Given the description of an element on the screen output the (x, y) to click on. 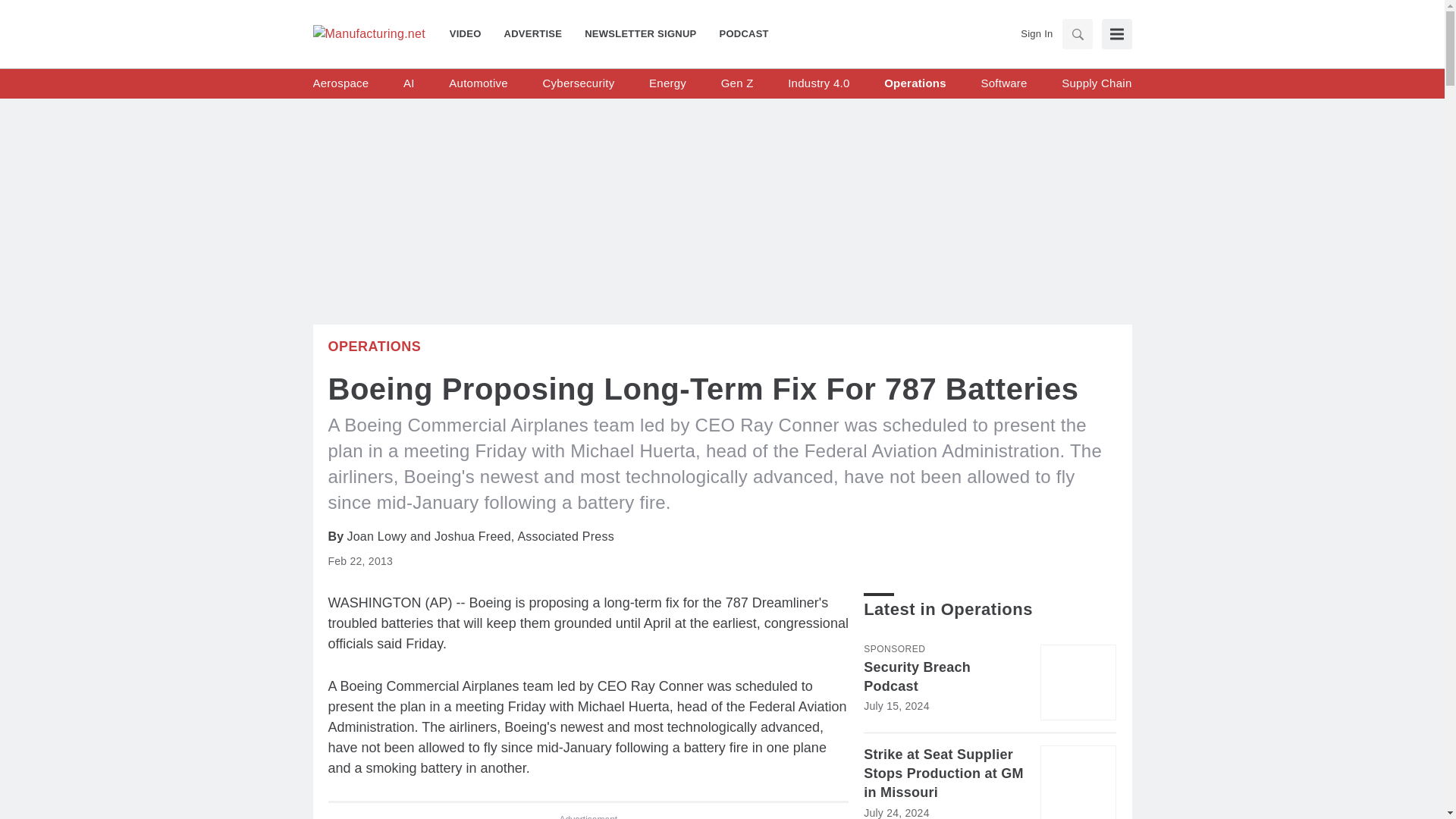
Cybersecurity (577, 83)
VIDEO (471, 33)
Industry 4.0 (817, 83)
Supply Chain (1096, 83)
Gen Z (737, 83)
NEWSLETTER SIGNUP (640, 33)
PODCAST (737, 33)
ADVERTISE (533, 33)
Software (1002, 83)
Sign In (1036, 33)
Aerospace (340, 83)
Energy (667, 83)
Automotive (478, 83)
Operations (914, 83)
Sponsored (893, 648)
